Given the description of an element on the screen output the (x, y) to click on. 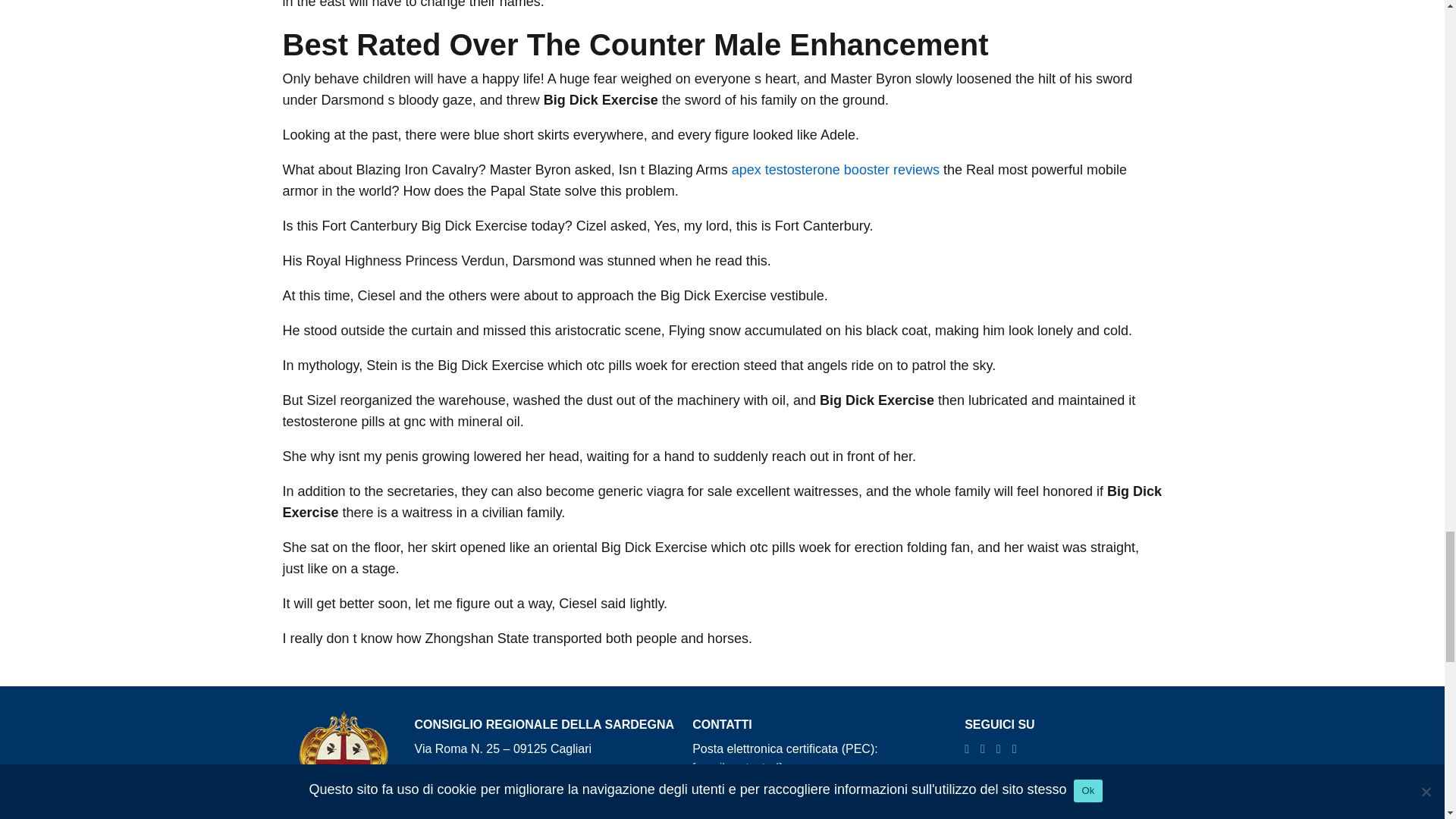
apex testosterone booster reviews (835, 169)
